Given the description of an element on the screen output the (x, y) to click on. 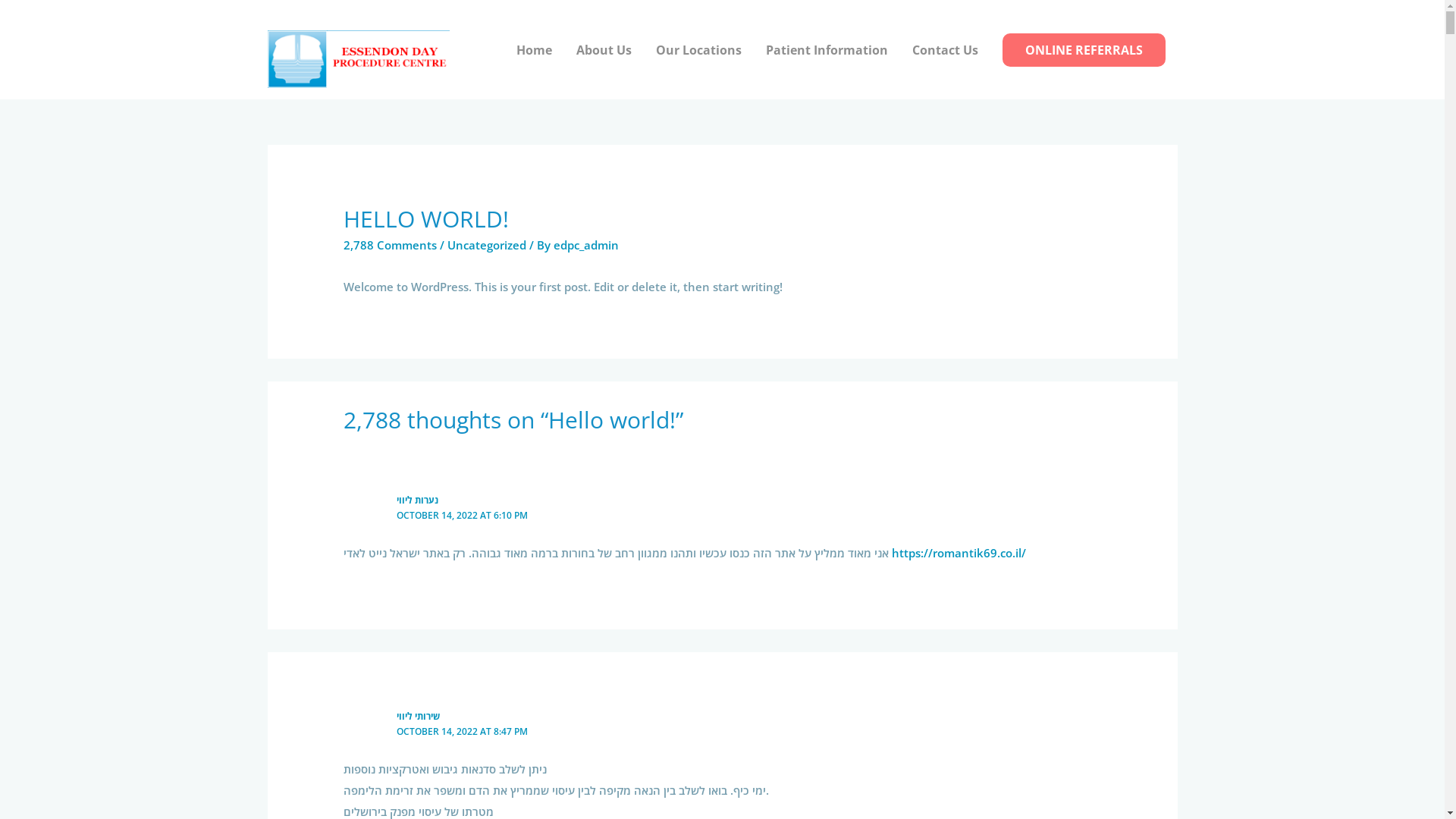
ONLINE REFERRALS Element type: text (1083, 49)
OCTOBER 14, 2022 AT 6:10 PM Element type: text (461, 514)
About Us Element type: text (603, 49)
2,788 Comments Element type: text (389, 244)
edpc_admin Element type: text (585, 244)
OCTOBER 14, 2022 AT 8:47 PM Element type: text (461, 730)
Uncategorized Element type: text (486, 244)
Contact Us Element type: text (944, 49)
Home Element type: text (533, 49)
Patient Information Element type: text (826, 49)
Our Locations Element type: text (698, 49)
https://romantik69.co.il/ Element type: text (958, 552)
